Given the description of an element on the screen output the (x, y) to click on. 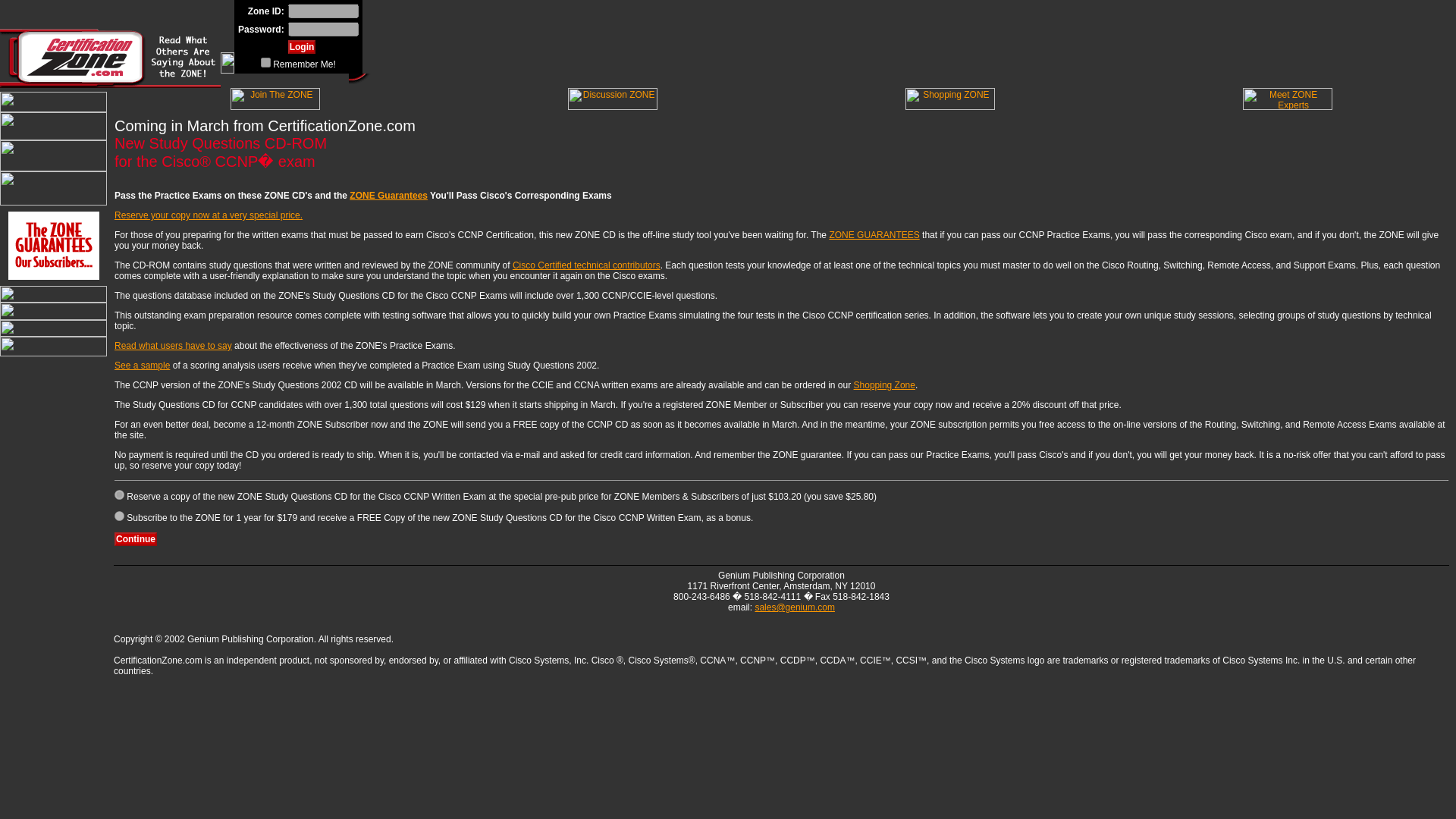
2 (119, 515)
Reserve your copy now at a very special price. (208, 214)
Shopping Zone (884, 385)
1 (119, 494)
Login (301, 47)
ZONE Guarantees (388, 195)
Continue (136, 539)
Cisco Certified technical contributors (586, 265)
Login (301, 47)
Read what users have to say (173, 345)
ZONE GUARANTEES (873, 235)
on (265, 62)
See a sample (142, 365)
